Given the description of an element on the screen output the (x, y) to click on. 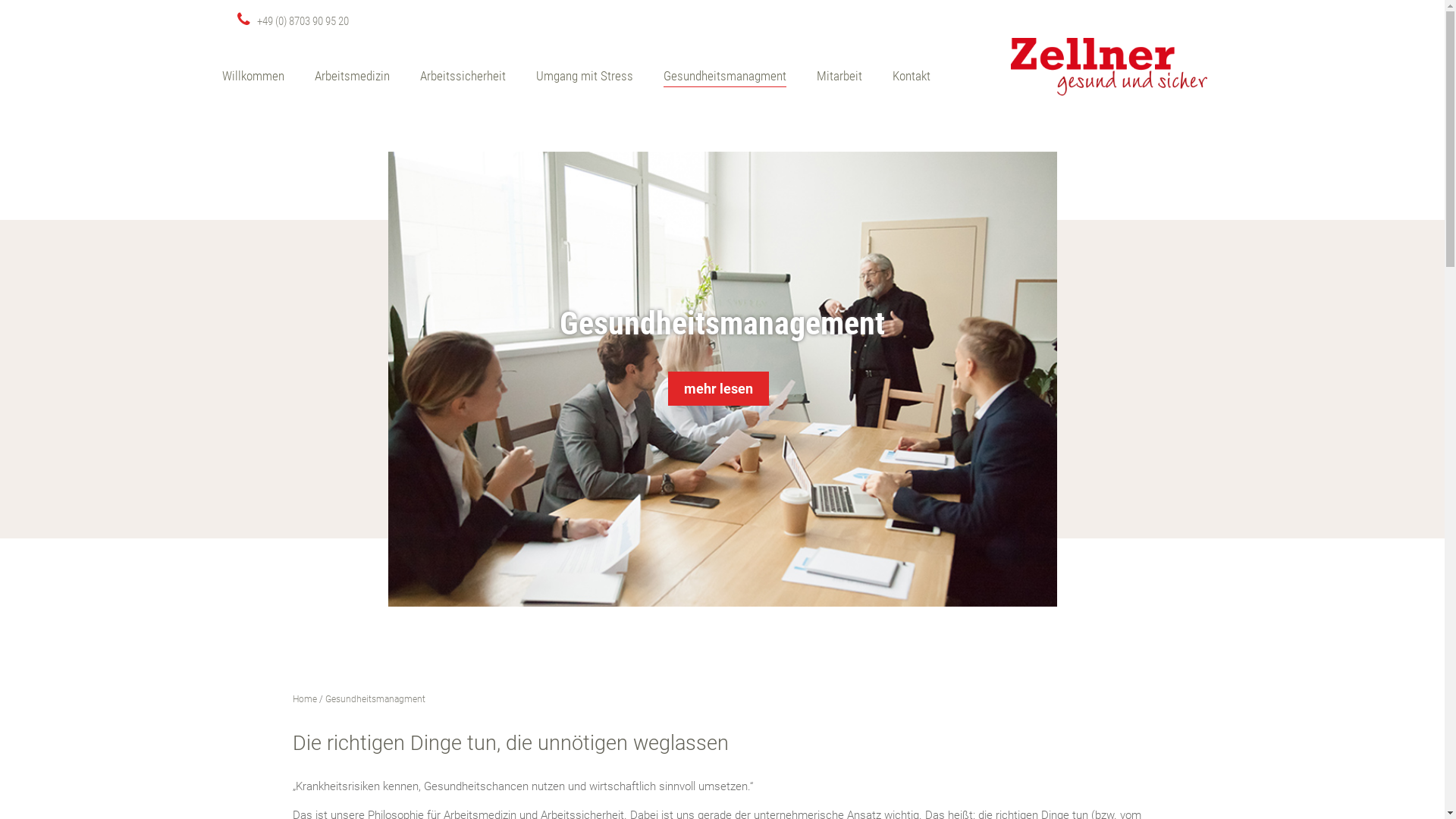
mehr lesen Element type: text (718, 388)
Home Element type: text (304, 698)
Umgang mit Stress Element type: text (583, 76)
Gesundheitsmanagment Element type: text (374, 698)
Willkommen Element type: text (252, 76)
Kontakt Element type: text (910, 76)
Mitarbeit Element type: text (838, 76)
Gesundheitsmanagment Element type: text (723, 77)
Arbeitsmedizin Element type: text (351, 76)
Arbeitssicherheit Element type: text (462, 76)
+49 (0) 8703 90 95 20 Element type: text (292, 21)
